Given the description of an element on the screen output the (x, y) to click on. 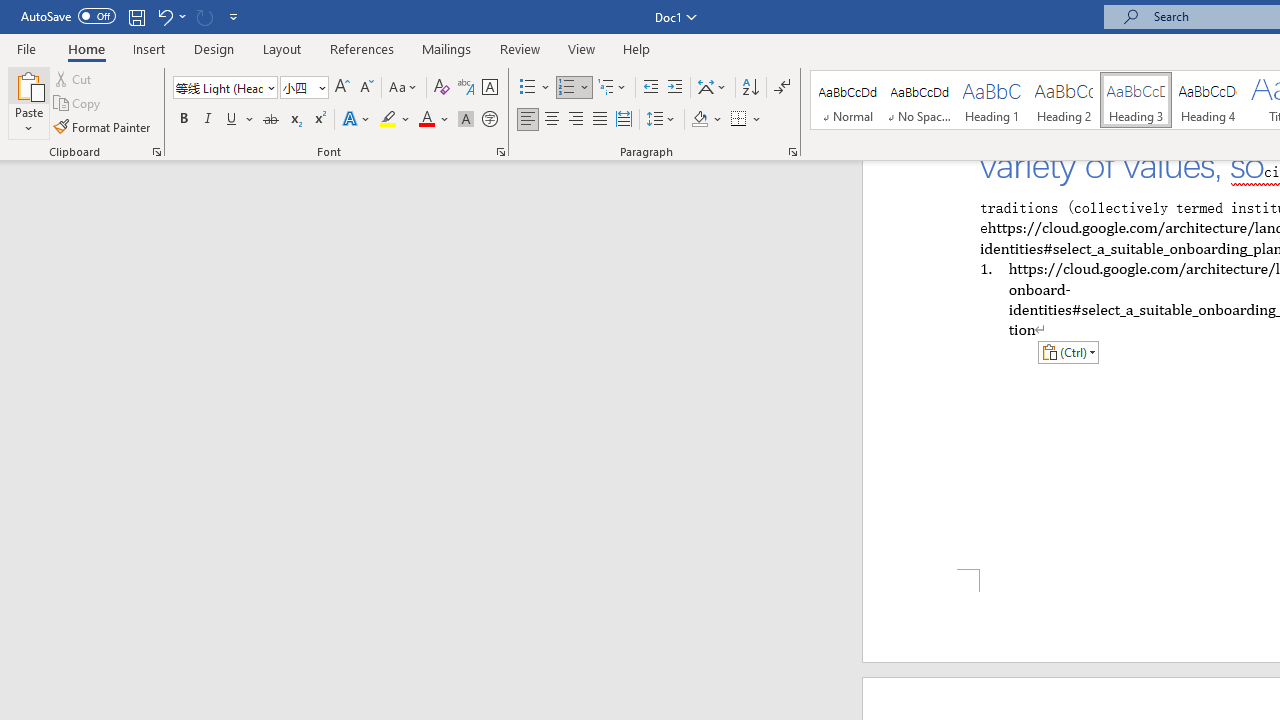
Bold (183, 119)
Character Shading (465, 119)
Shading (706, 119)
Multilevel List (613, 87)
Action: Paste alternatives (1068, 352)
Subscript (294, 119)
Copy (78, 103)
Align Right (575, 119)
Decrease Indent (650, 87)
